Given the description of an element on the screen output the (x, y) to click on. 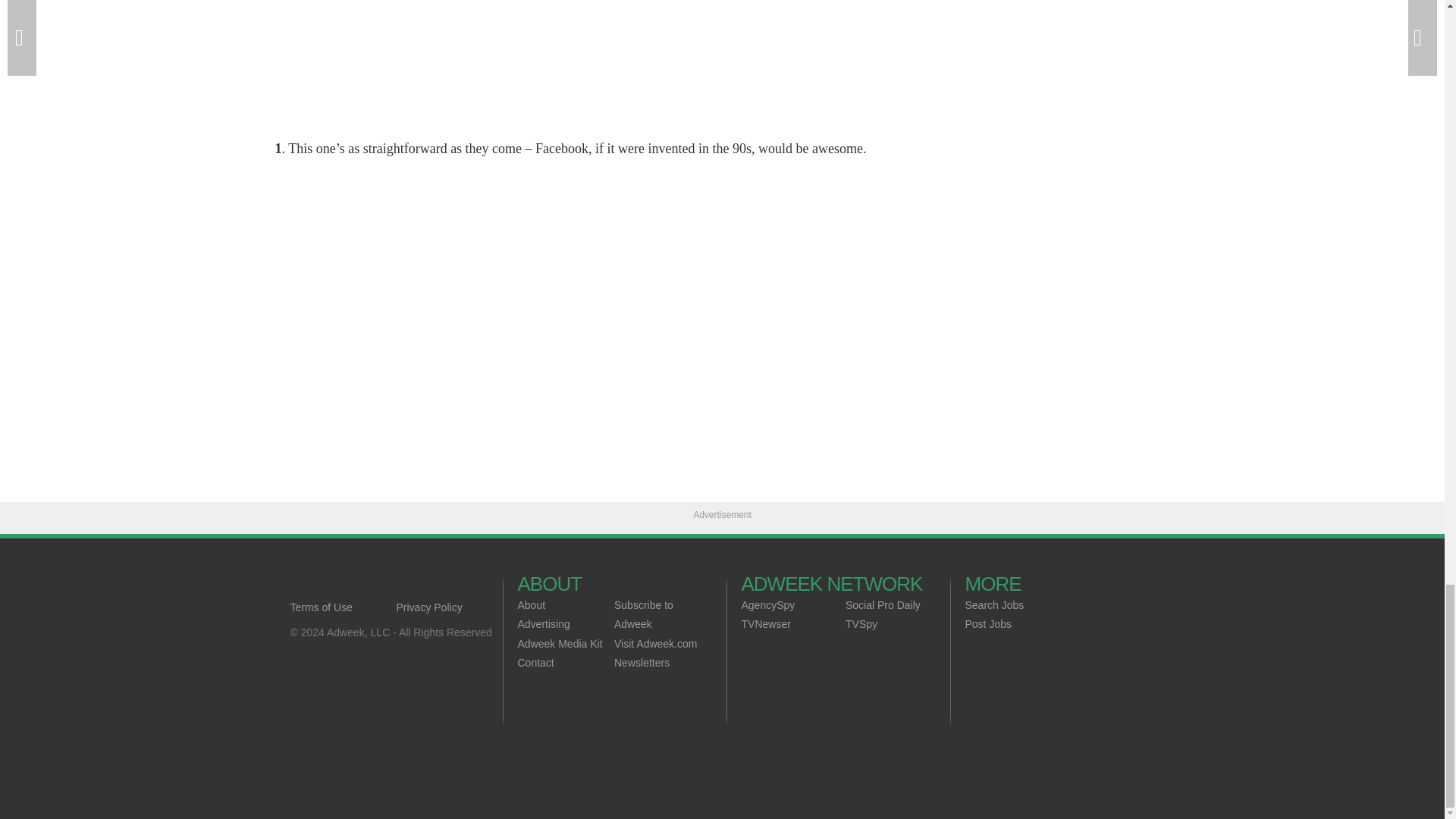
Covering the ad agency world (395, 583)
